Given the description of an element on the screen output the (x, y) to click on. 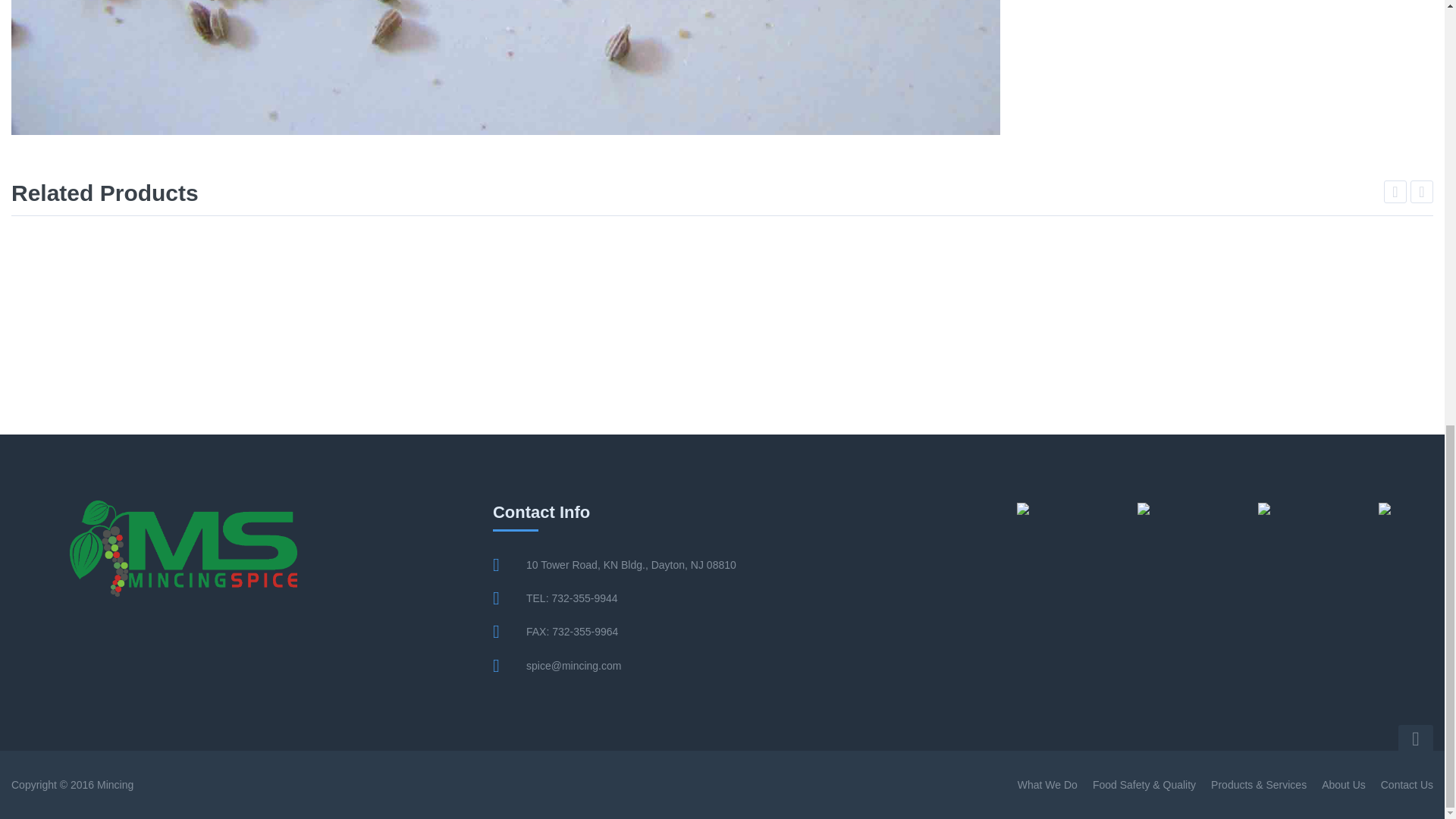
Logo (183, 548)
